Given the description of an element on the screen output the (x, y) to click on. 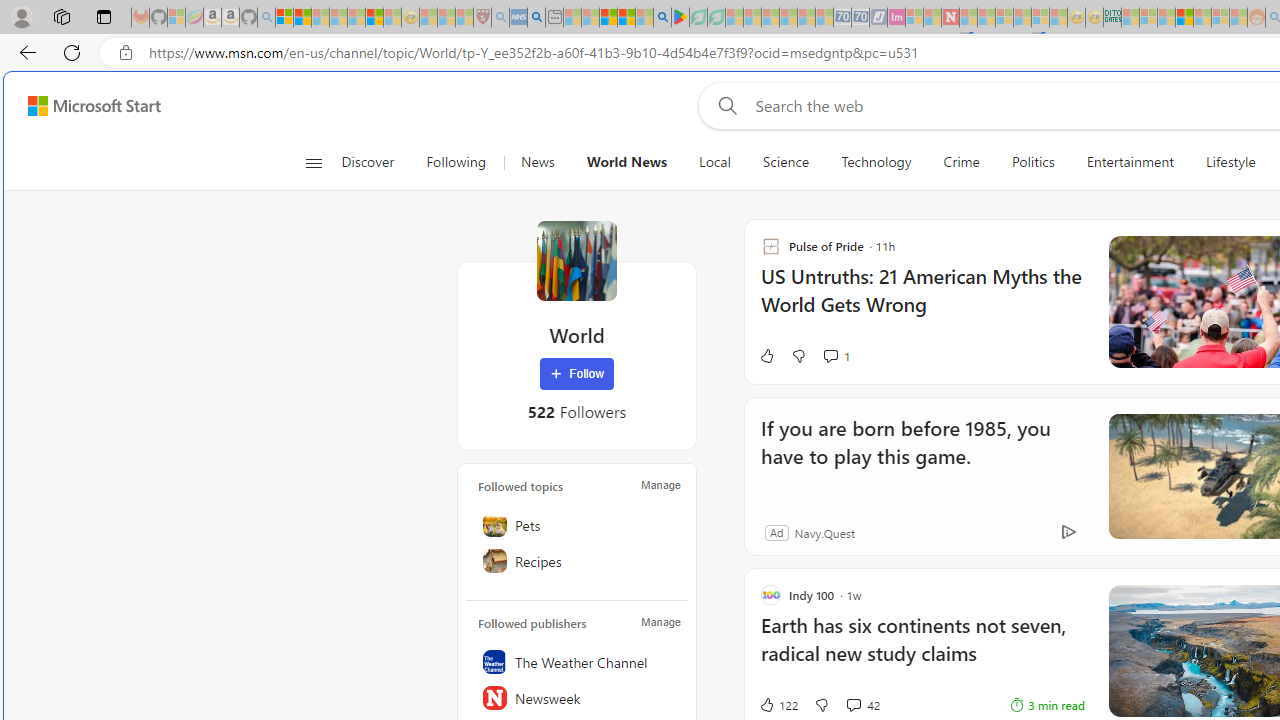
Recipes (577, 561)
Navy.Quest (824, 532)
